Given the description of an element on the screen output the (x, y) to click on. 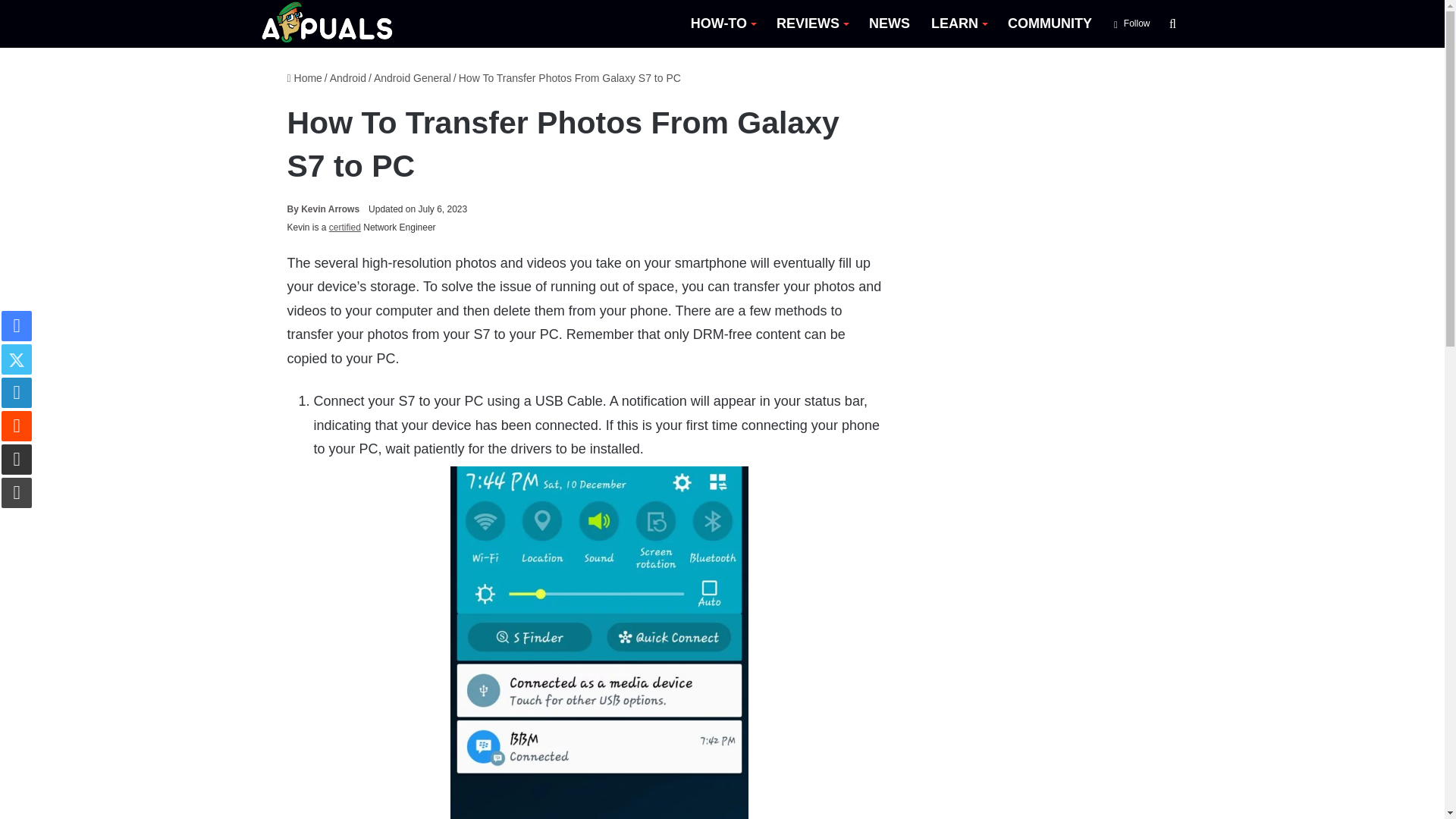
Kevin Arrows (322, 208)
Reddit (16, 426)
HOW-TO (722, 23)
Share via Email (16, 459)
LEARN (958, 23)
LinkedIn (16, 392)
Appuals (327, 23)
Facebook (16, 326)
Print (16, 492)
NEWS (889, 23)
